Given the description of an element on the screen output the (x, y) to click on. 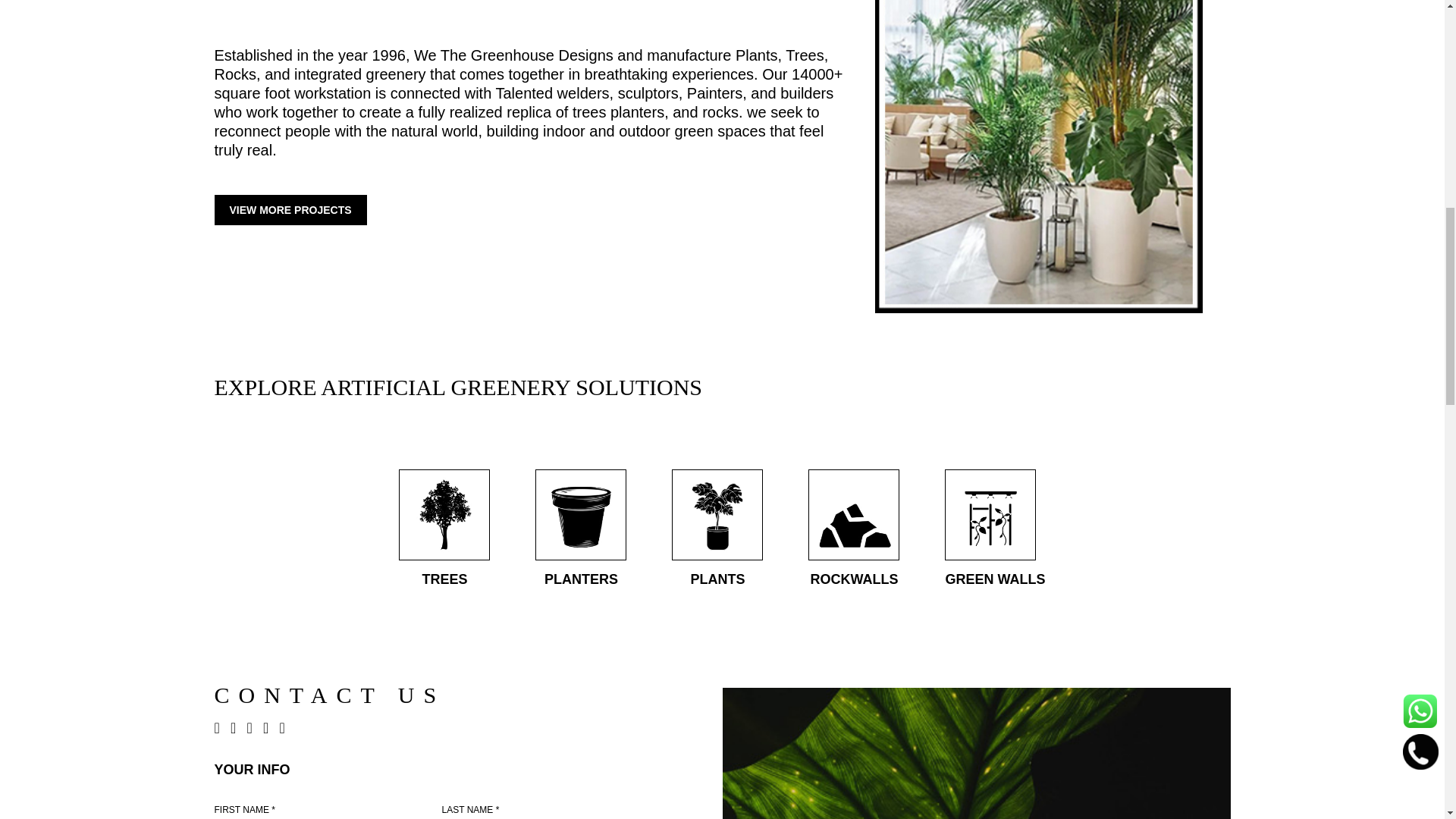
ROCKWALLS (853, 529)
TREES (443, 529)
VIEW MORE PROJECTS (290, 209)
PLANTS (716, 529)
PLANTERS (580, 529)
GREEN WALLS (994, 529)
